Given the description of an element on the screen output the (x, y) to click on. 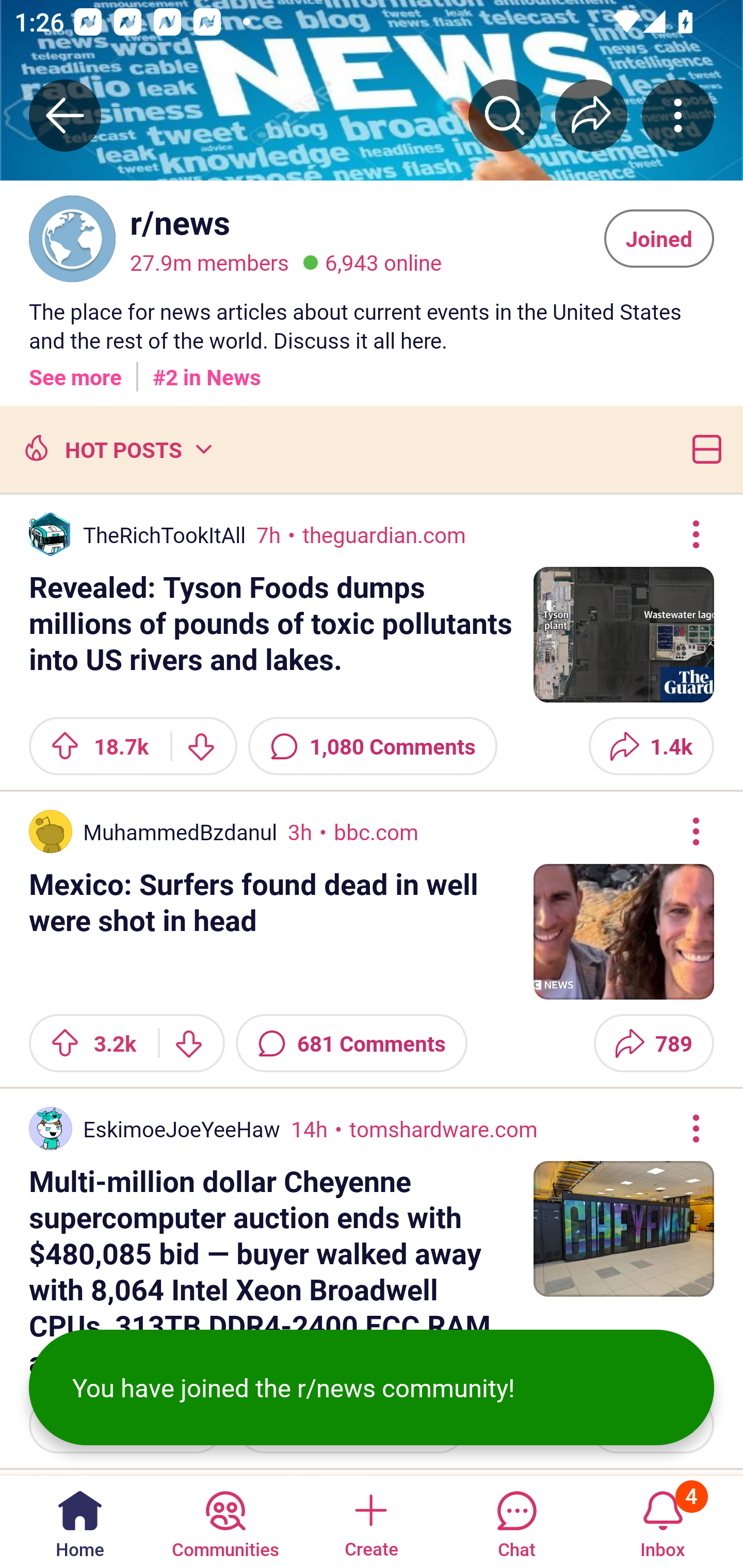
Back (64, 115)
Search r/﻿news (504, 115)
Share r/﻿news (591, 115)
More community actions (677, 115)
Hot posts HOT POSTS (116, 449)
Card (703, 449)
Home (80, 1520)
Communities (225, 1520)
Create a post Create (370, 1520)
Chat (516, 1520)
Inbox, has 4 notifications 4 Inbox (662, 1520)
